Given the description of an element on the screen output the (x, y) to click on. 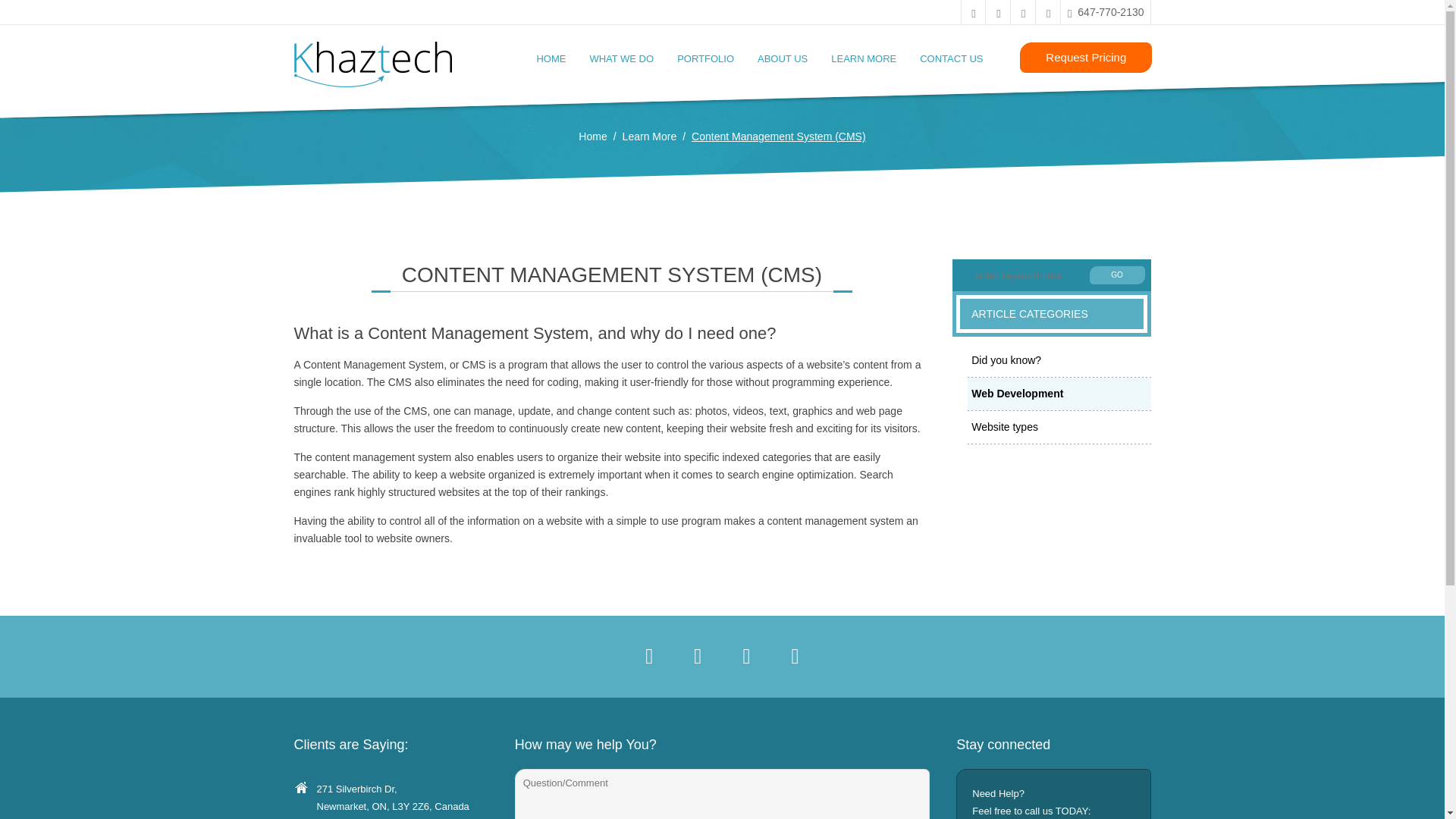
Request Pricing (1085, 57)
Web Development (1058, 392)
PORTFOLIO (705, 58)
Go (1116, 271)
Web Development (1058, 393)
Did you know? (1058, 358)
Home (592, 136)
Did you know? (1058, 360)
LEARN MORE (863, 58)
ABOUT US (781, 58)
